Given the description of an element on the screen output the (x, y) to click on. 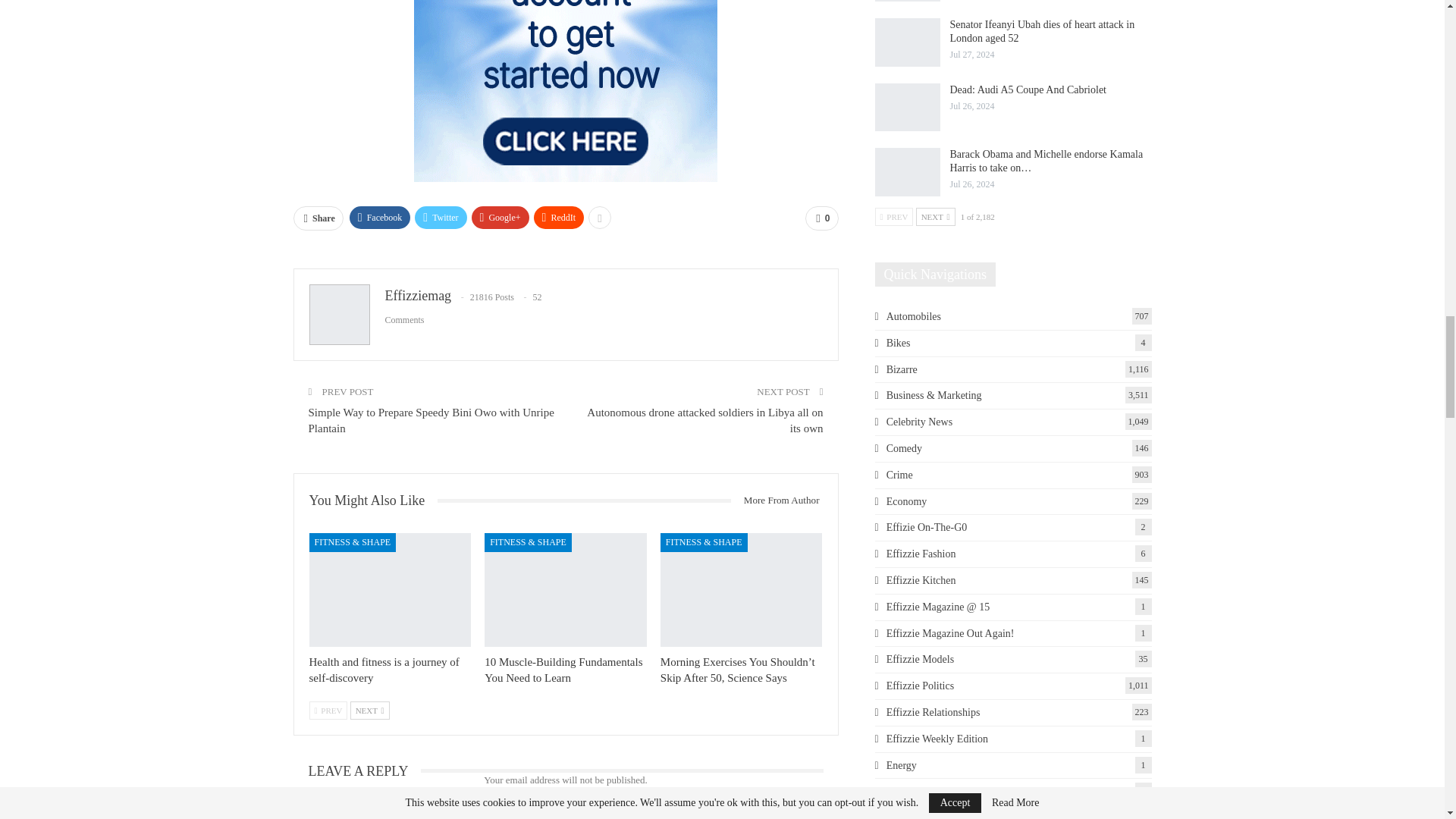
10 Muscle-Building Fundamentals You Need to Learn (565, 590)
Health and fitness is a journey of self-discovery (389, 590)
Health and fitness is a journey of self-discovery (384, 669)
10 Muscle-Building Fundamentals You Need to Learn (563, 669)
Next (370, 710)
Previous (327, 710)
